Given the description of an element on the screen output the (x, y) to click on. 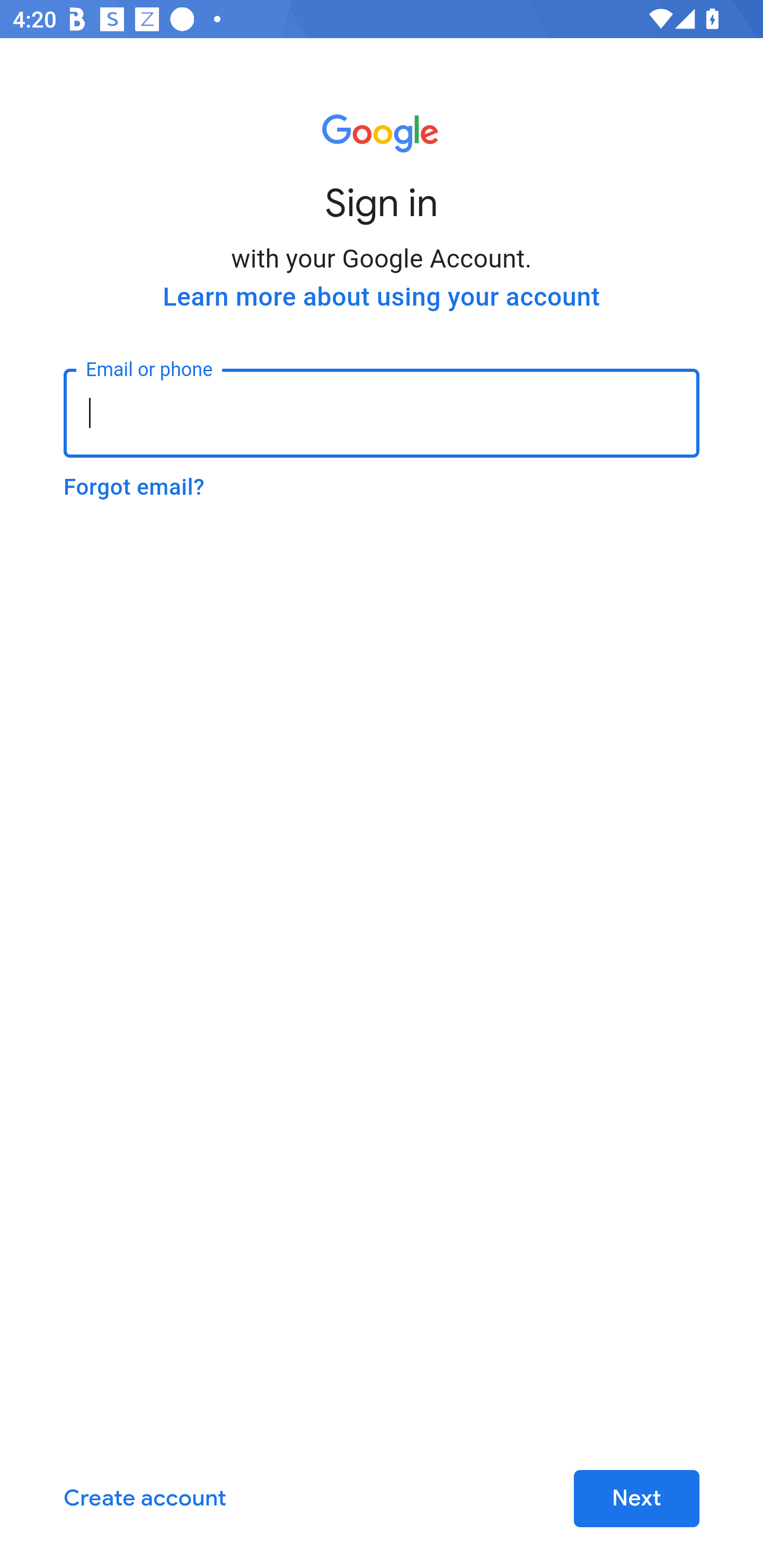
Learn more about using your account (381, 296)
Forgot email? (133, 486)
Create account (145, 1498)
Next (635, 1498)
